Given the description of an element on the screen output the (x, y) to click on. 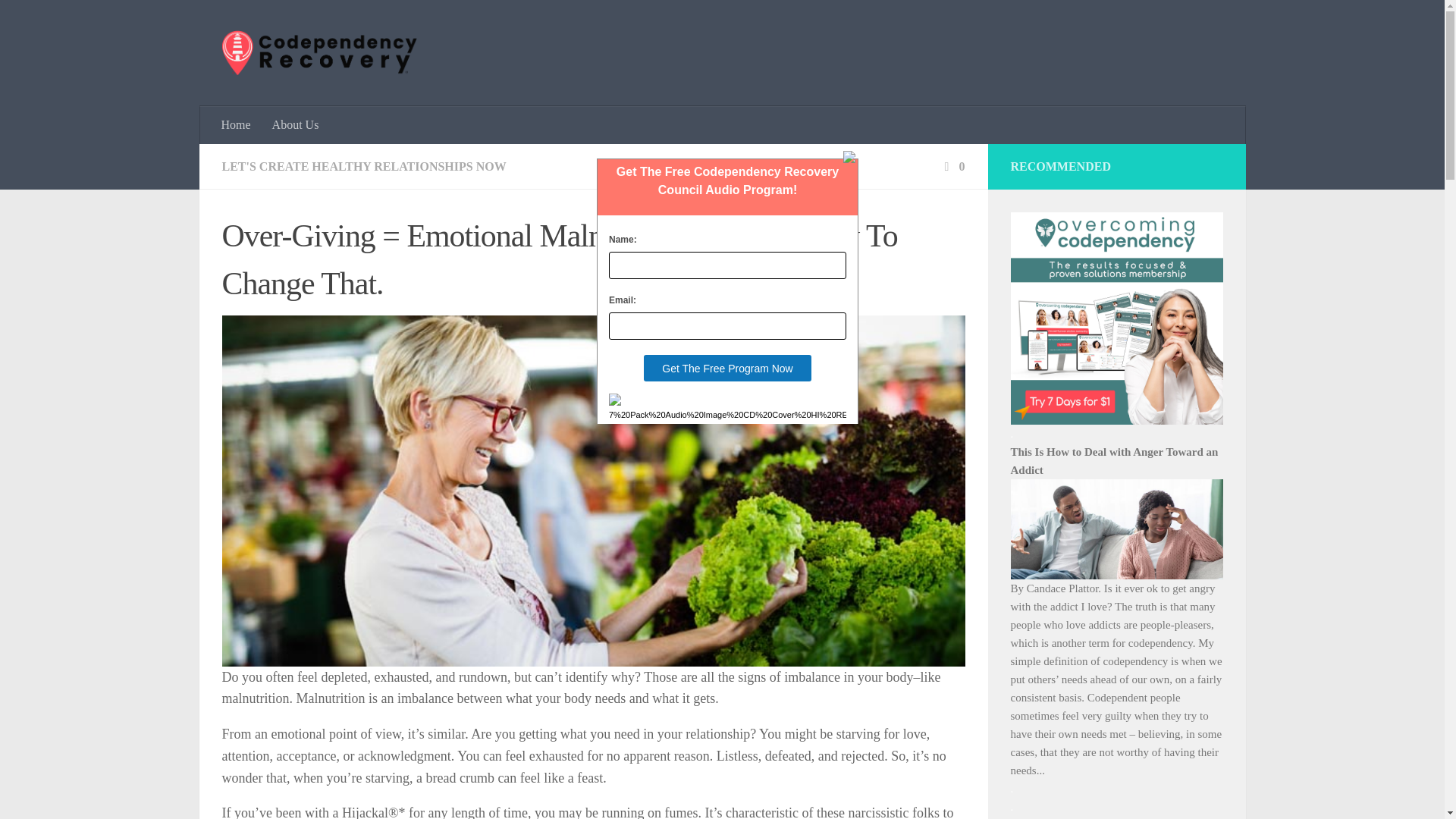
Skip to content (59, 20)
About Us (296, 125)
LET'S CREATE HEALTHY RELATIONSHIPS NOW (363, 165)
0 (951, 165)
This Is How to Deal with Anger Toward an Addict (1113, 460)
Get The Free Program Now (726, 367)
Home (236, 125)
